Given the description of an element on the screen output the (x, y) to click on. 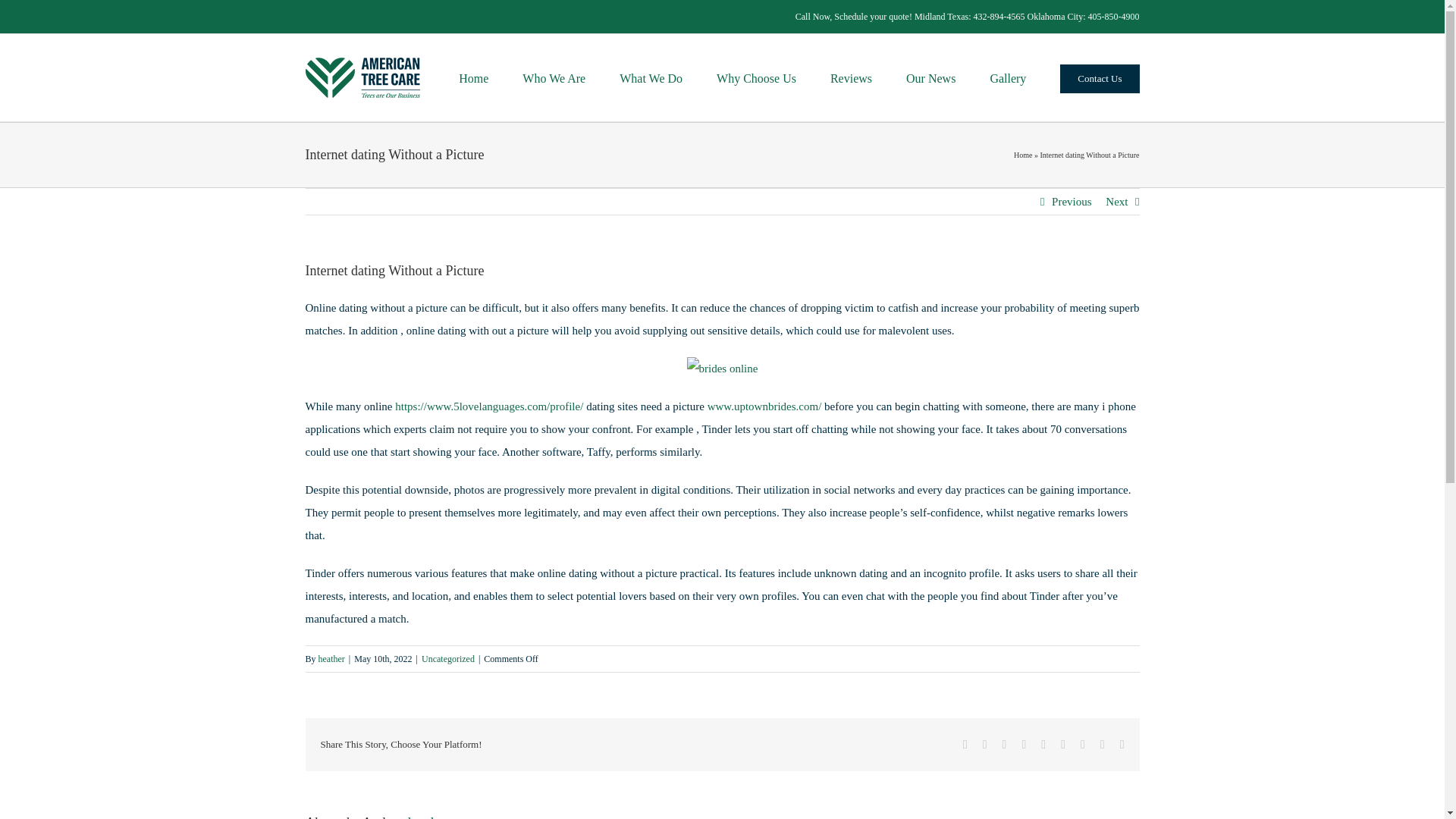
Contact Us (1098, 77)
Posts by heather (331, 658)
Why Choose Us (756, 77)
Posts by heather (427, 816)
